Given the description of an element on the screen output the (x, y) to click on. 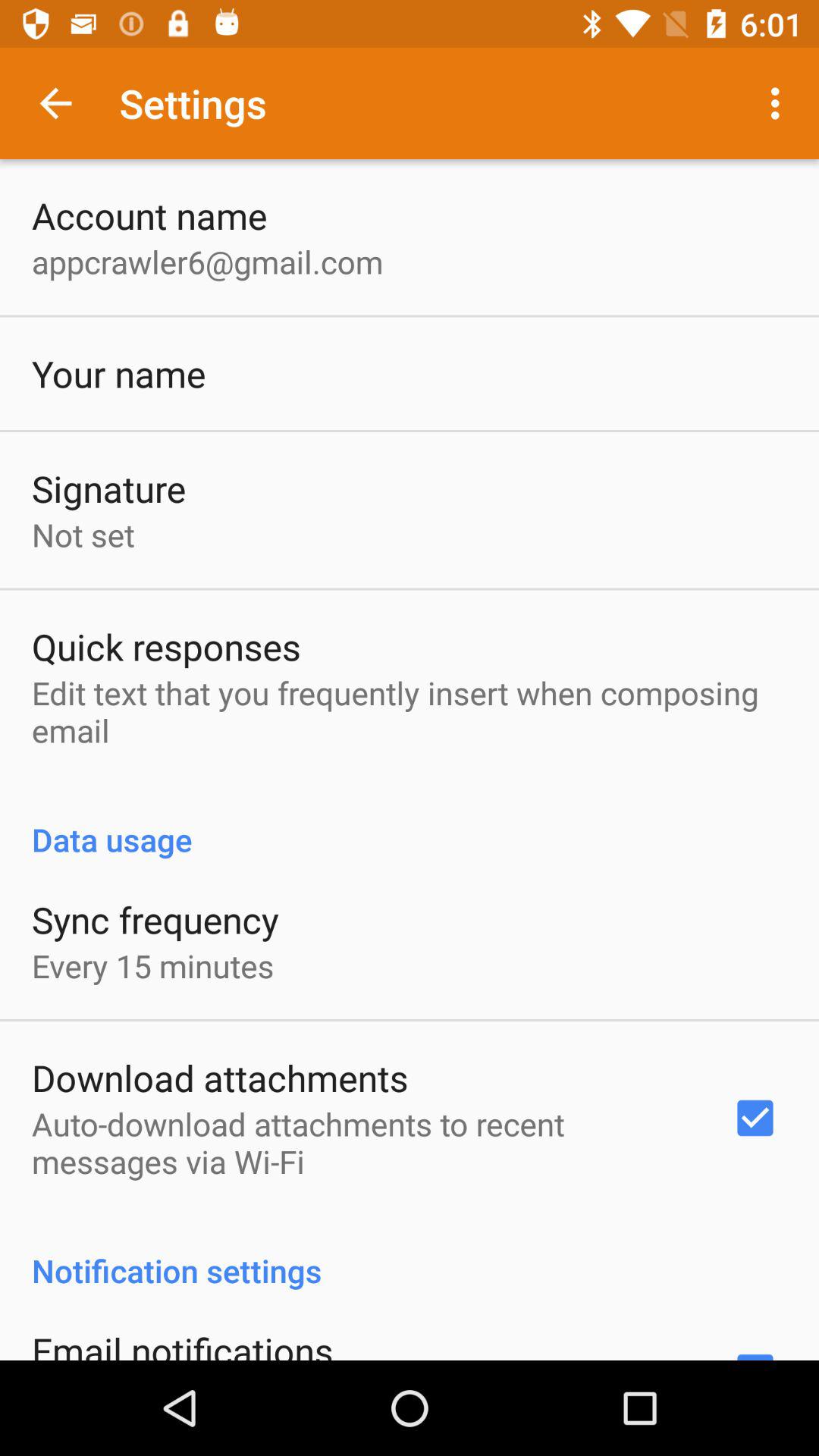
scroll to quick responses (165, 646)
